Given the description of an element on the screen output the (x, y) to click on. 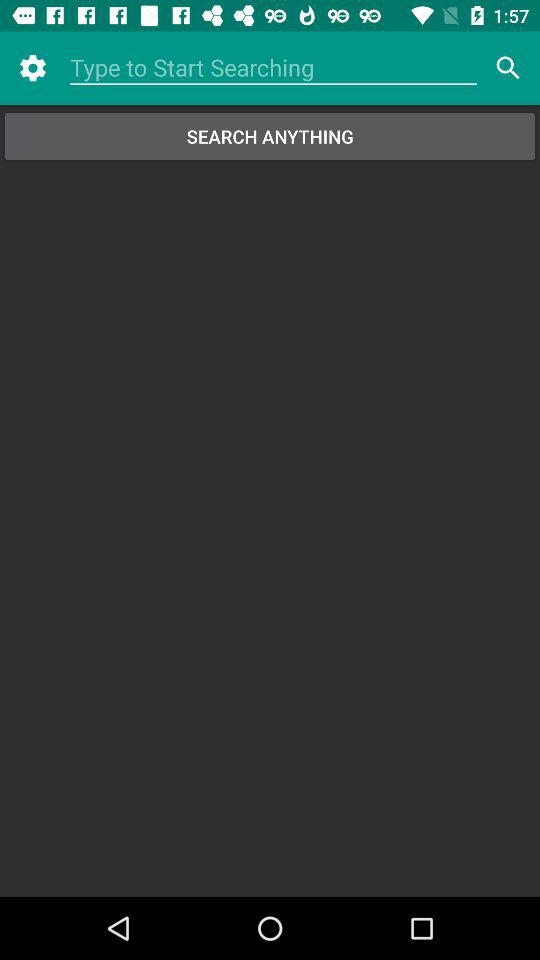
type to start searching (273, 67)
